Given the description of an element on the screen output the (x, y) to click on. 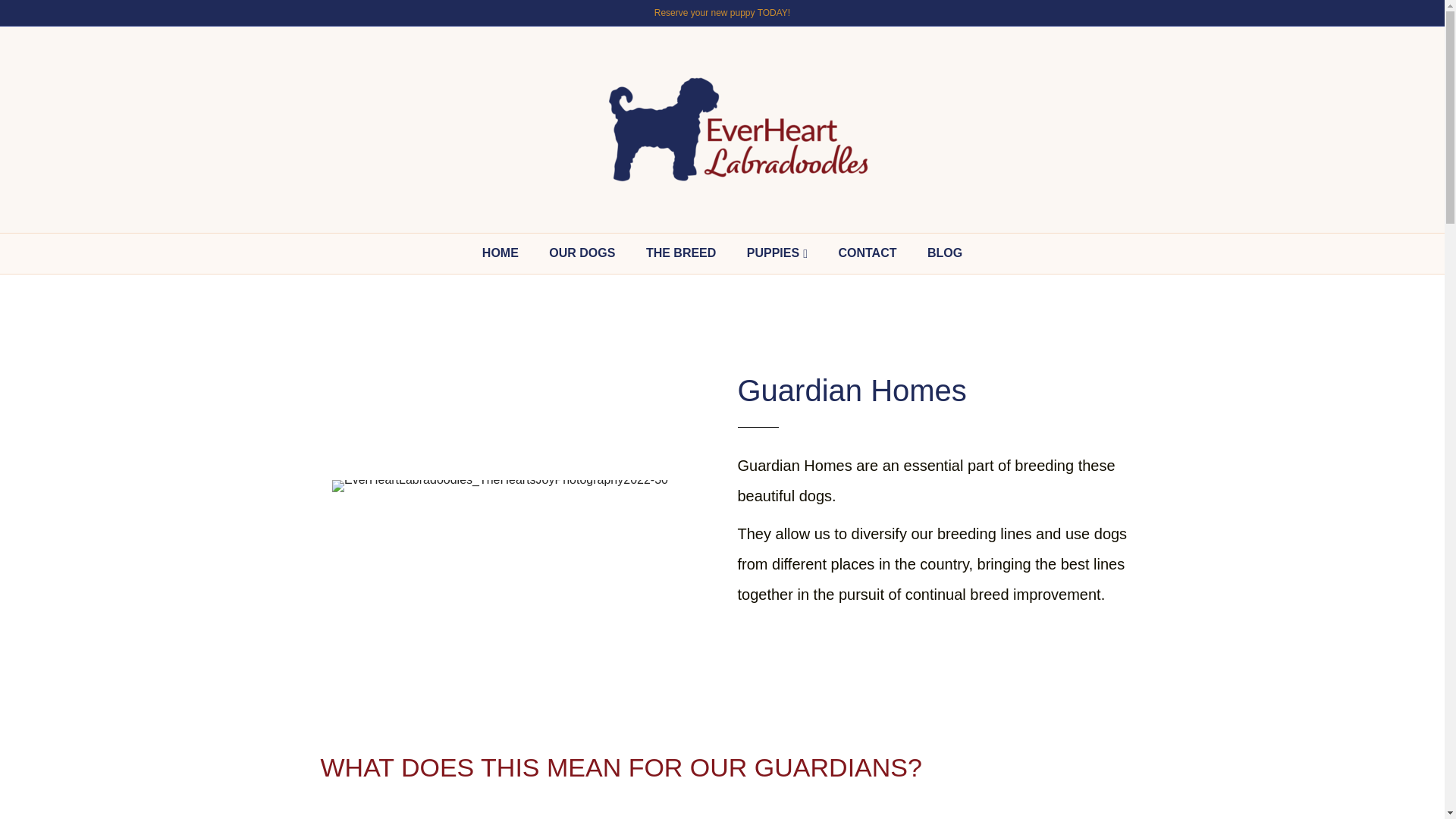
CONTACT (867, 252)
OUR DOGS (581, 252)
THE BREED (680, 252)
PUPPIES (777, 253)
Reserve your new puppy TODAY! (721, 12)
HOME (500, 252)
BLOG (944, 252)
